Given the description of an element on the screen output the (x, y) to click on. 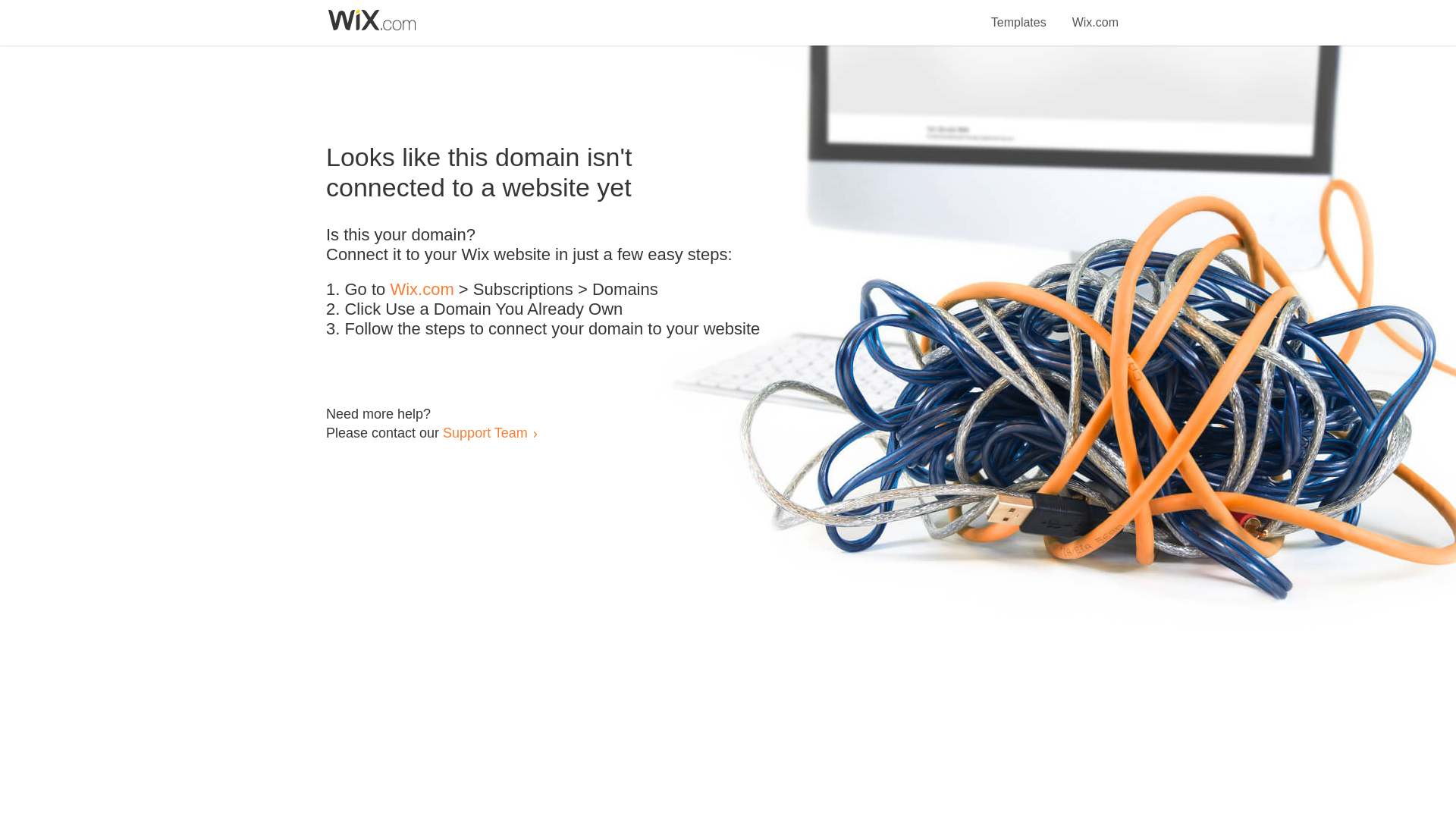
Templates (1018, 14)
Support Team (484, 432)
Wix.com (1095, 14)
Wix.com (421, 289)
